Given the description of an element on the screen output the (x, y) to click on. 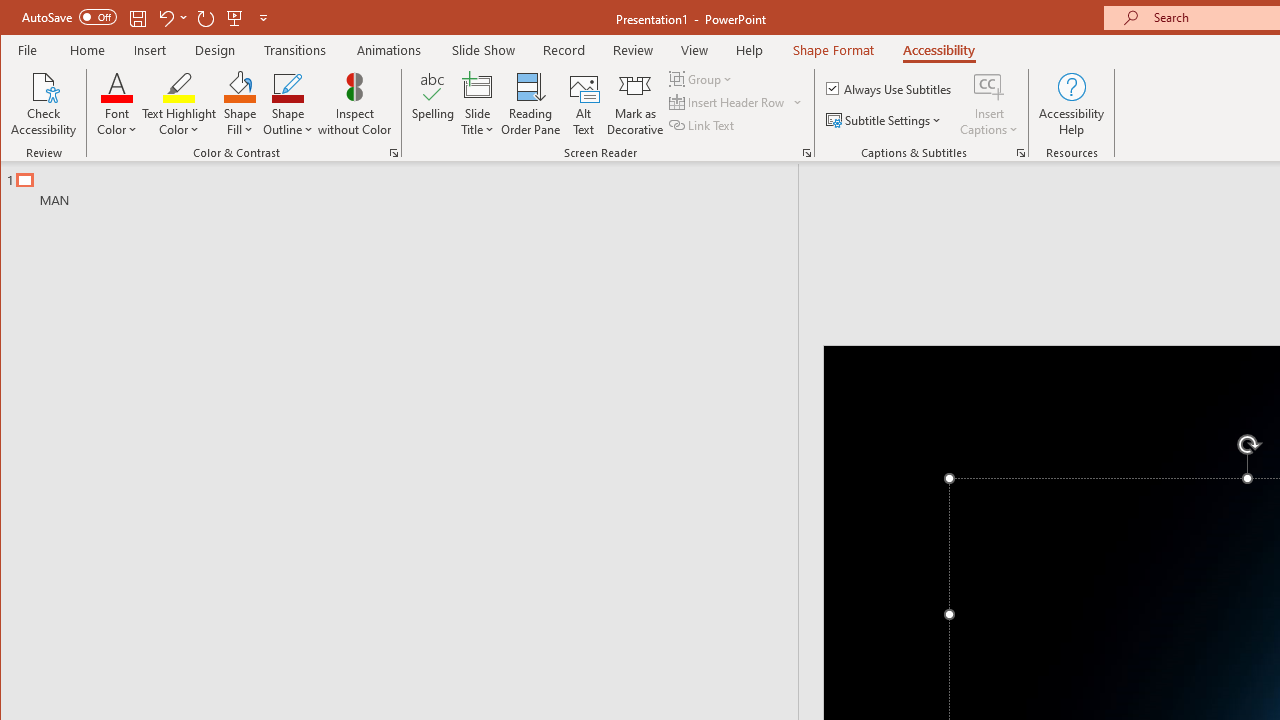
Accessibility Help (1071, 104)
Reading Order Pane (531, 104)
Subtitle Settings (885, 119)
